Given the description of an element on the screen output the (x, y) to click on. 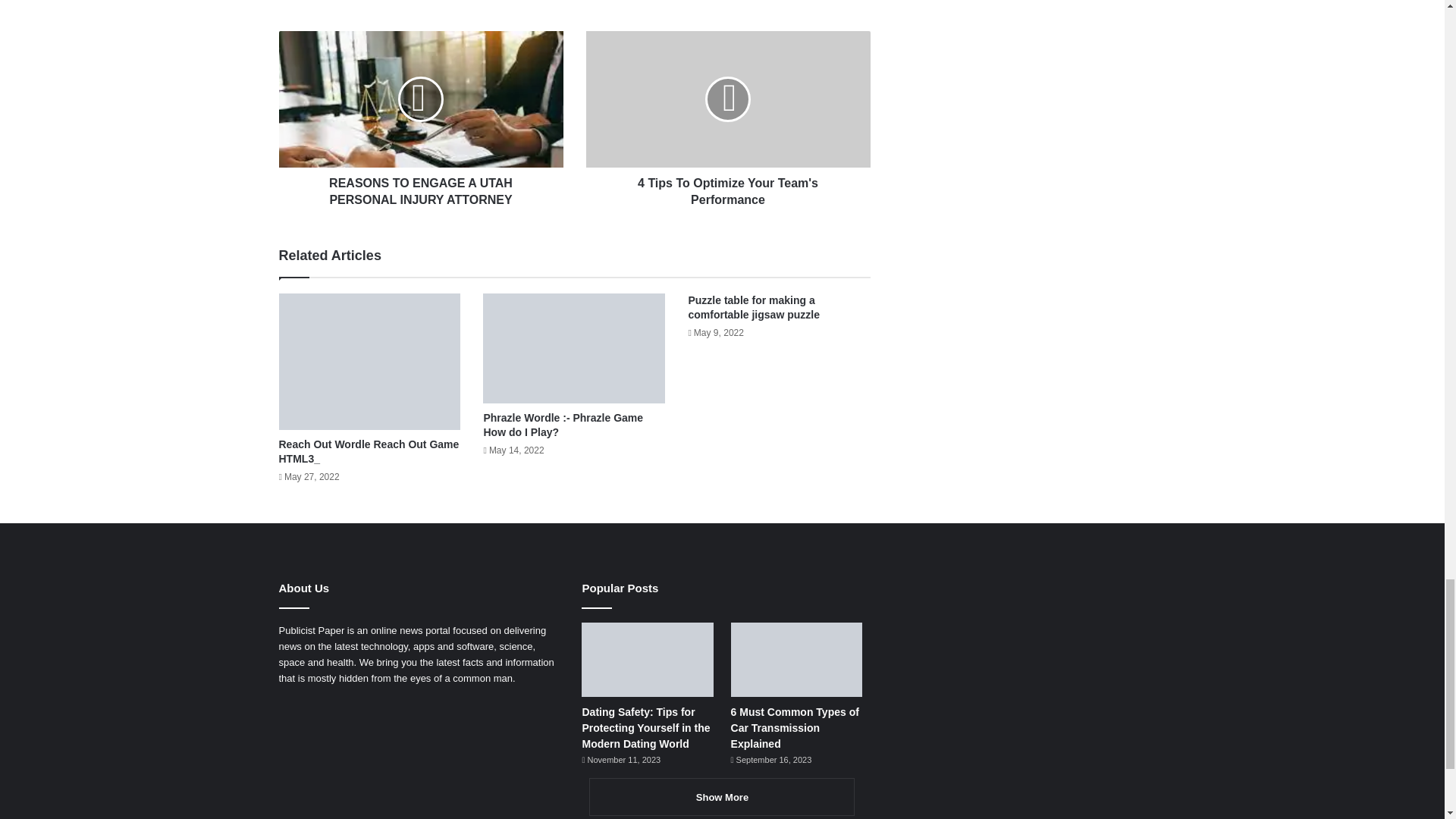
Phrazle Wordle :- Phrazle Game How do I Play? (563, 424)
REASONS TO ENGAGE A UTAH PERSONAL INJURY ATTORNEY (421, 187)
4 Tips To Optimize Your Team's Performance (727, 187)
